Given the description of an element on the screen output the (x, y) to click on. 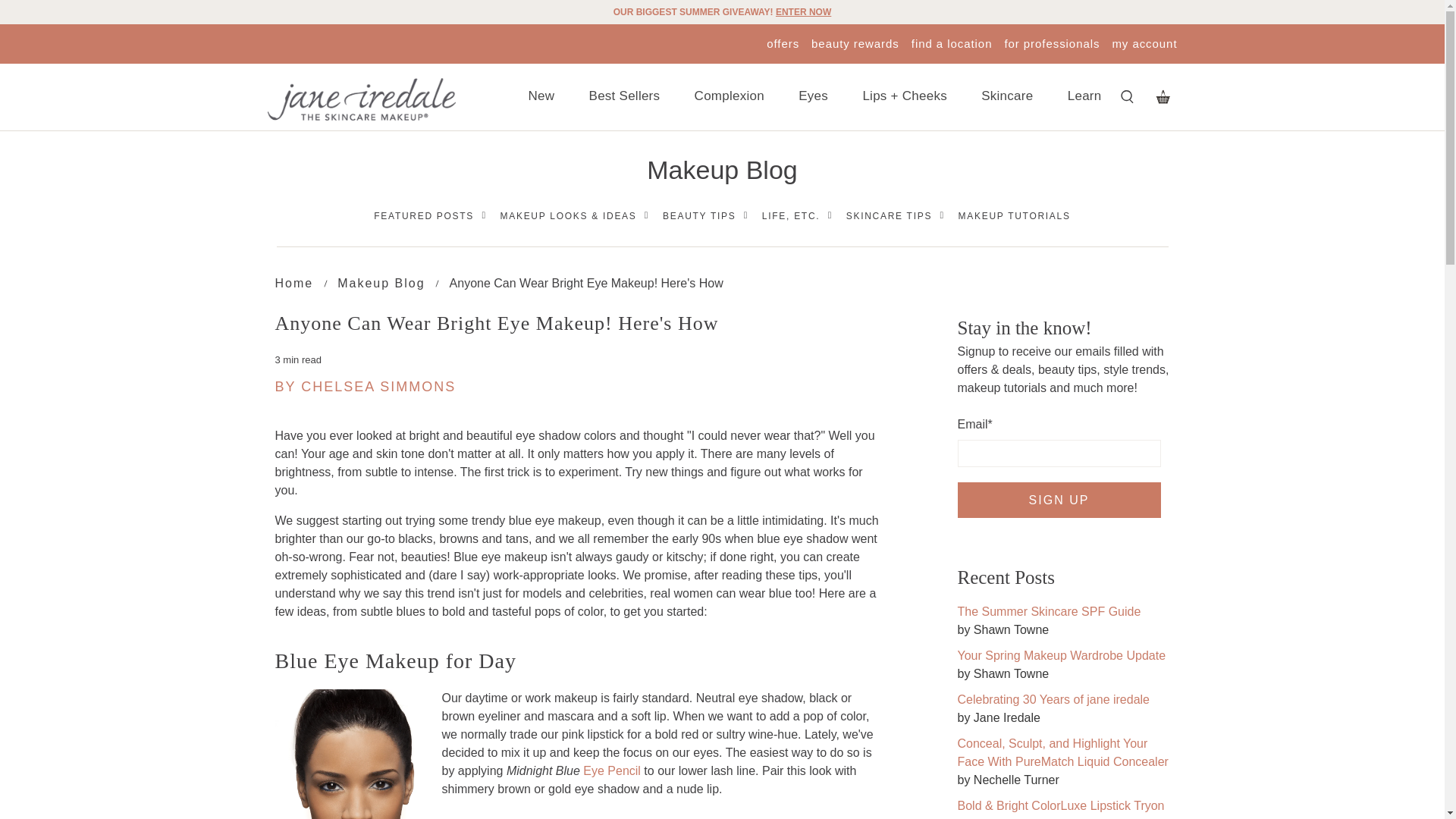
OUR BIGGEST SUMMER GIVEAWAY! ENTER NOW (721, 11)
Best Sellers (624, 97)
jane iredale (360, 99)
offers (783, 42)
find a location (951, 42)
my account (1144, 42)
for professionals (1051, 42)
beauty rewards (854, 42)
